Given the description of an element on the screen output the (x, y) to click on. 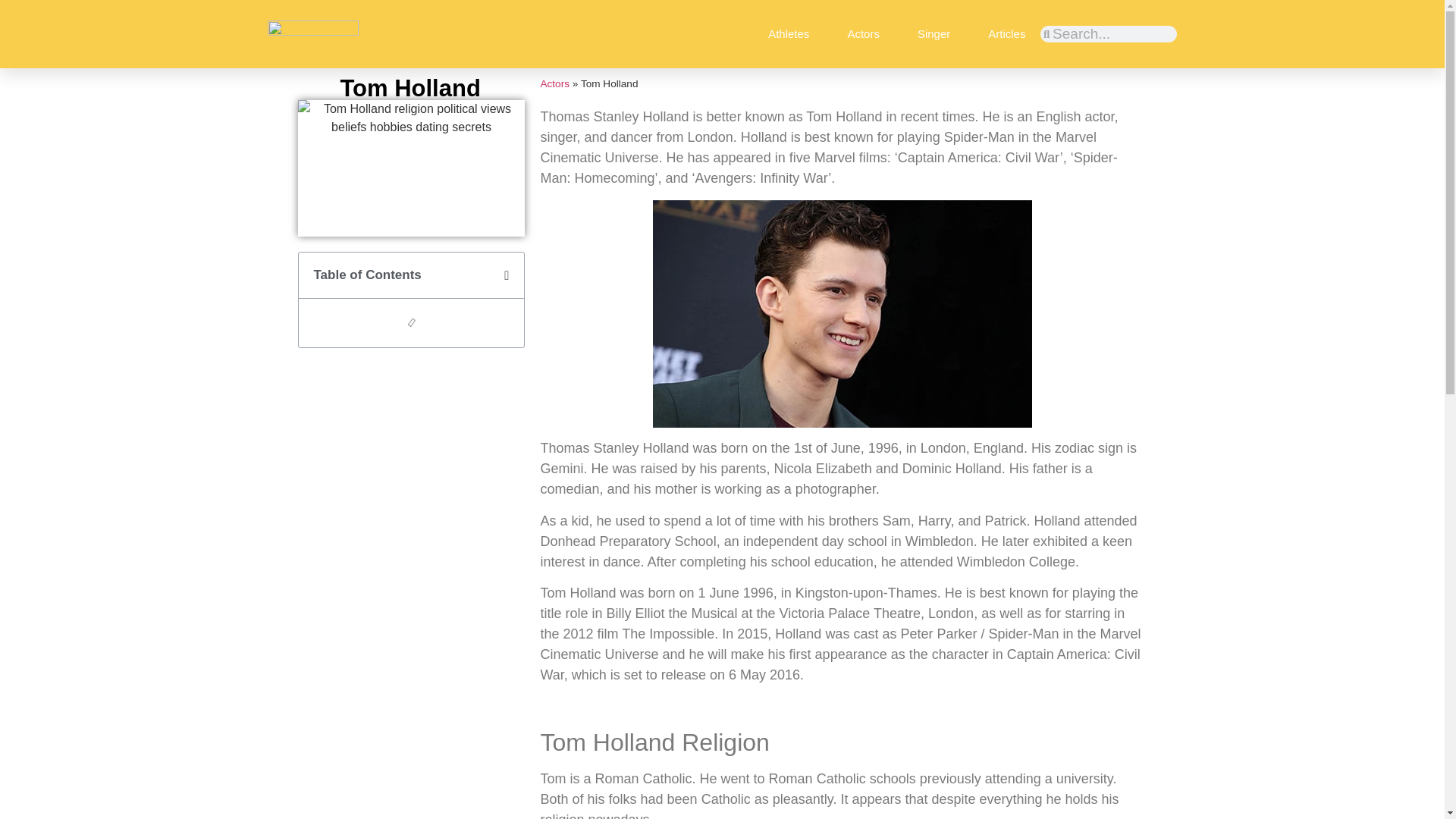
Actors (554, 83)
